Given the description of an element on the screen output the (x, y) to click on. 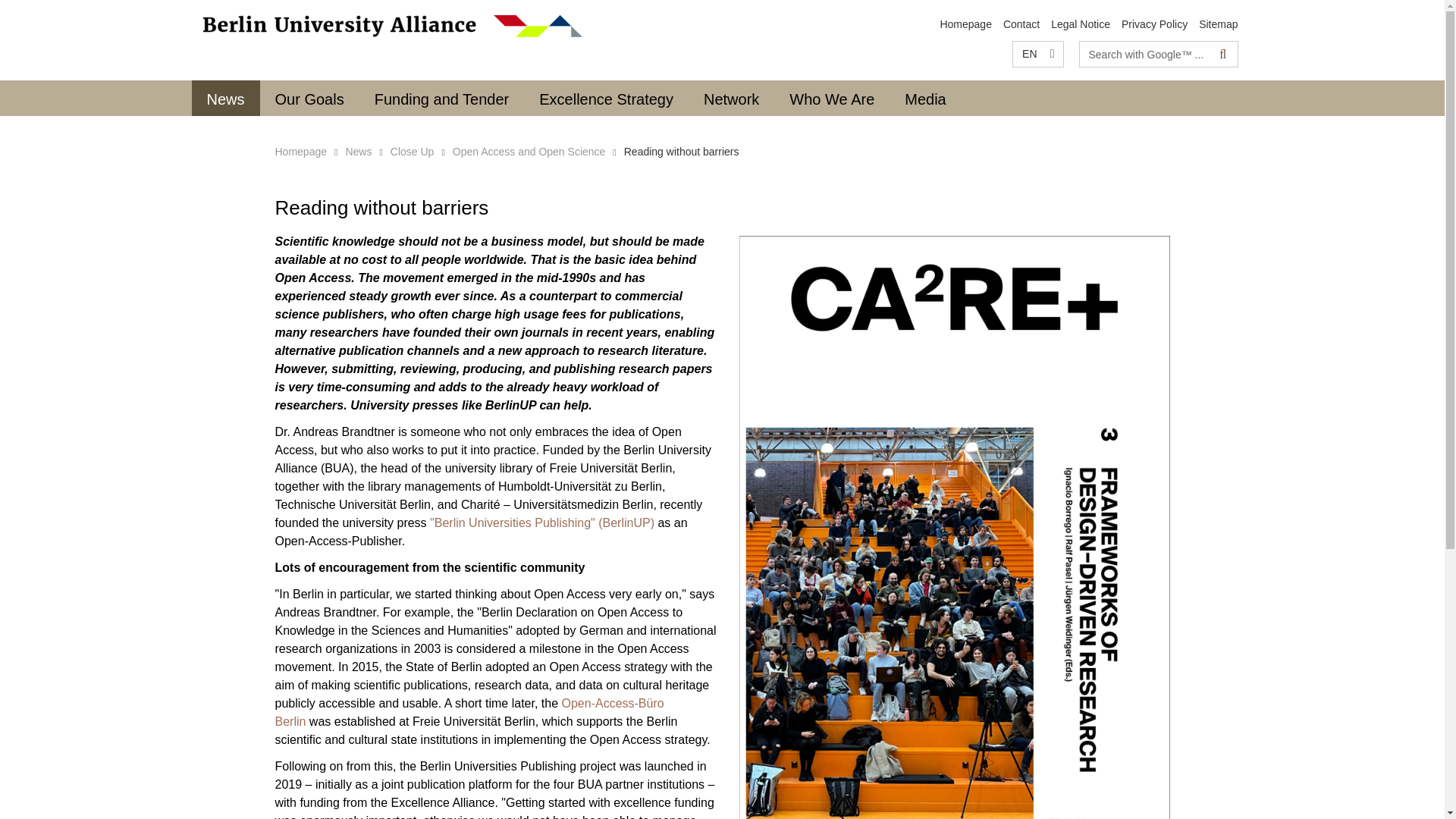
Please enter search term here (1144, 53)
To the Homepage of: Berlin University Alliance (965, 24)
Privacy Policy (1154, 24)
Privacy Policy (1154, 24)
News (224, 98)
Contact (1021, 24)
To the Homepage of: Berlin University Alliance (392, 25)
Our Goals (309, 98)
Sitemap (1217, 24)
Legal Notice (1080, 24)
Homepage (965, 24)
